Given the description of an element on the screen output the (x, y) to click on. 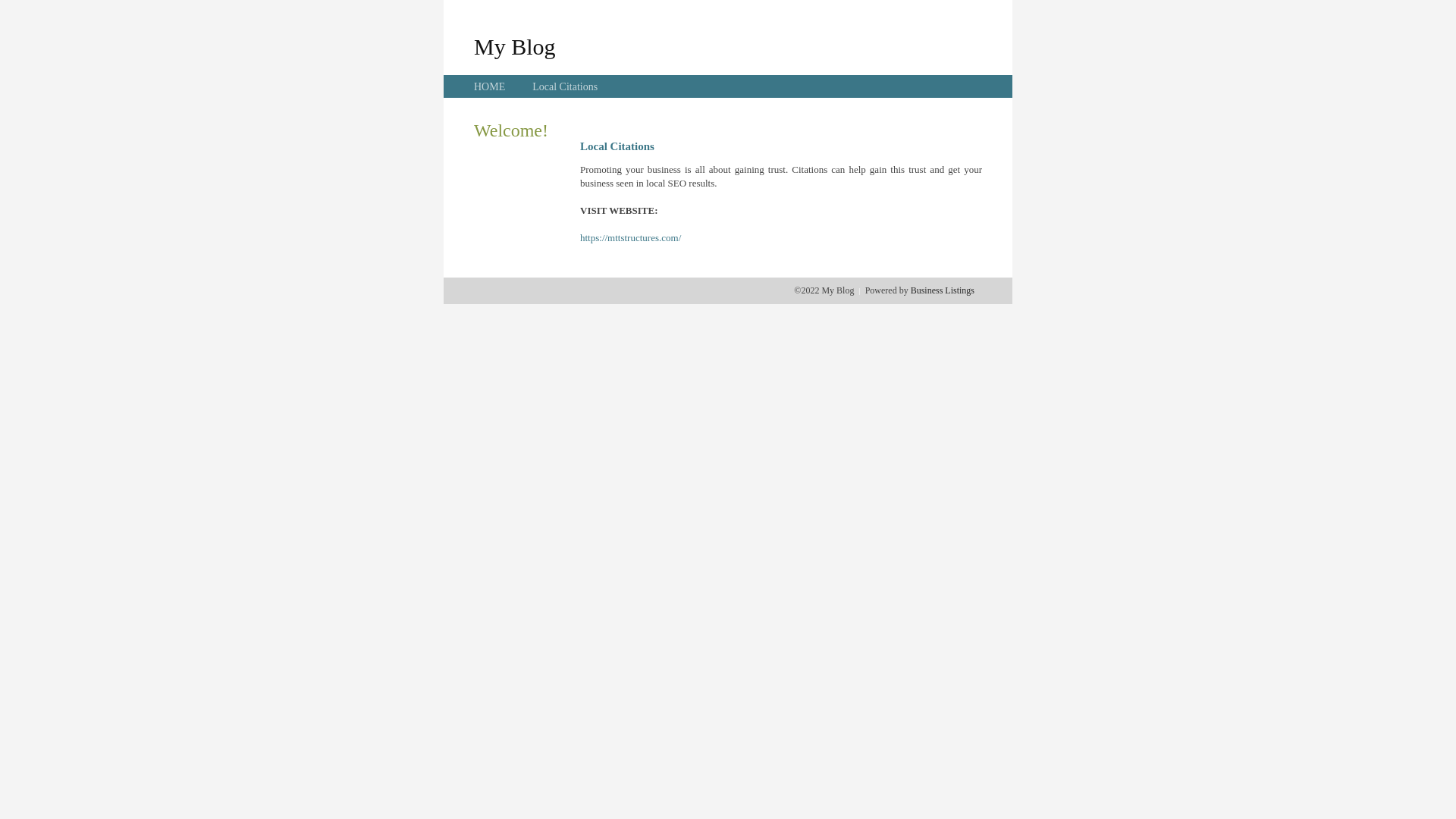
Business Listings Element type: text (942, 290)
My Blog Element type: text (514, 46)
HOME Element type: text (489, 86)
https://mttstructures.com/ Element type: text (630, 237)
Local Citations Element type: text (564, 86)
